Given the description of an element on the screen output the (x, y) to click on. 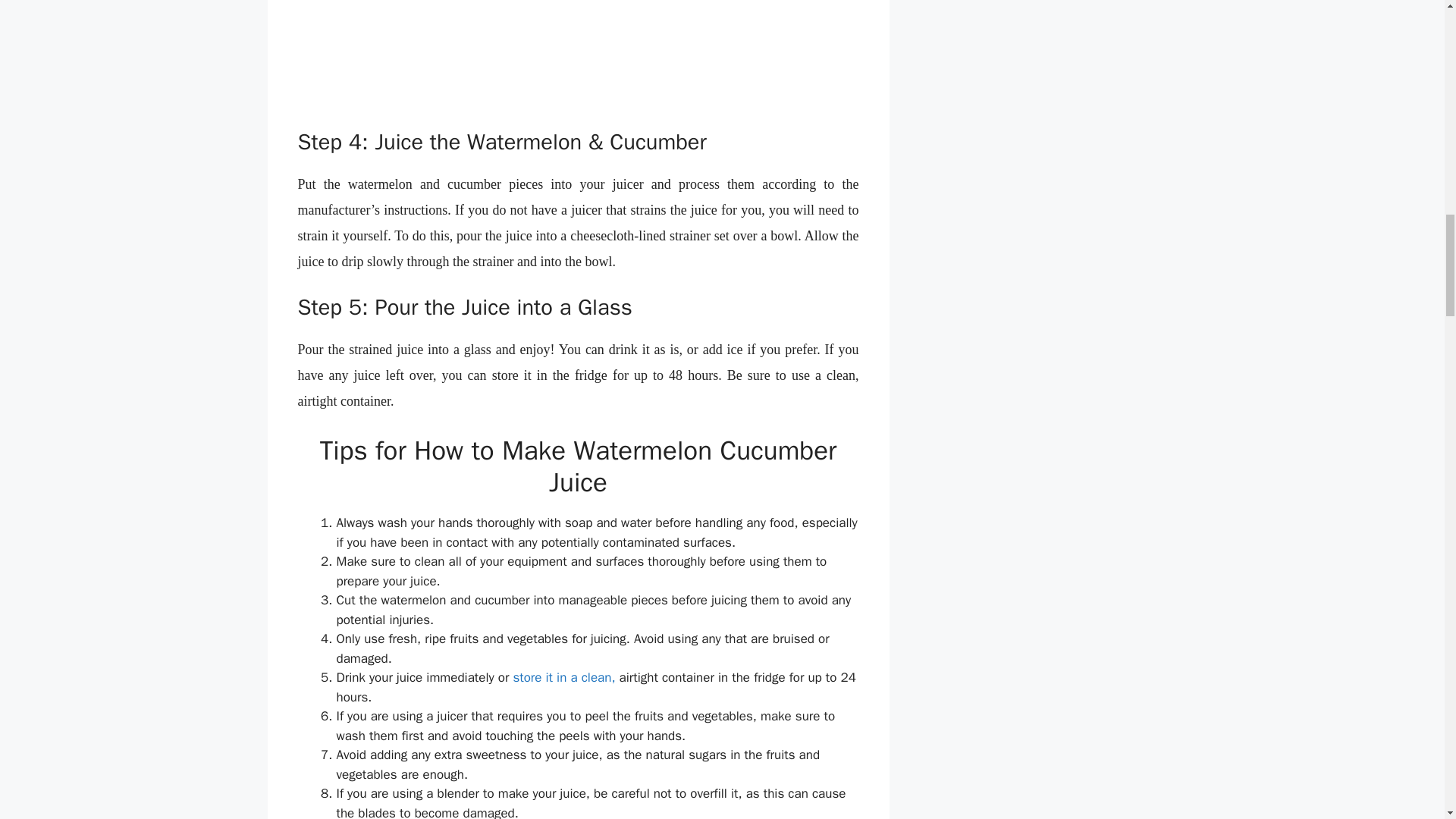
store it in a clean, (563, 677)
